Given the description of an element on the screen output the (x, y) to click on. 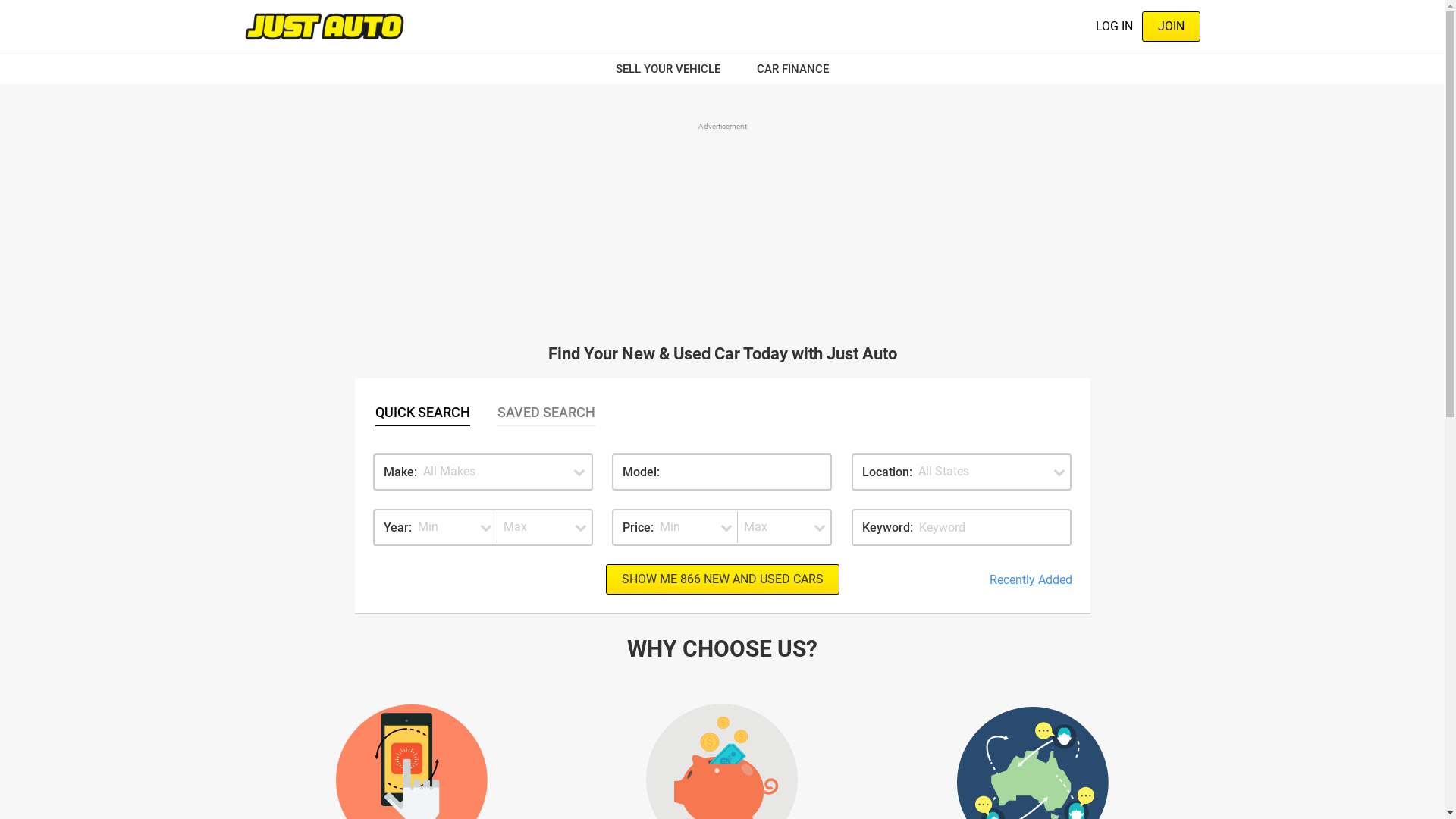
Skip to main content Element type: text (0, 0)
SAVED SEARCH Element type: text (546, 411)
JOIN Element type: text (1171, 26)
QUICK SEARCH Element type: text (422, 411)
Home Element type: hover (323, 25)
SHOW ME 866 NEW AND USED CARS Element type: text (721, 579)
LOG IN Element type: text (1113, 26)
search Element type: text (24, 11)
Recently Added Element type: text (1029, 579)
CAR FINANCE Element type: text (783, 68)
SELL YOUR VEHICLE Element type: text (676, 68)
